Given the description of an element on the screen output the (x, y) to click on. 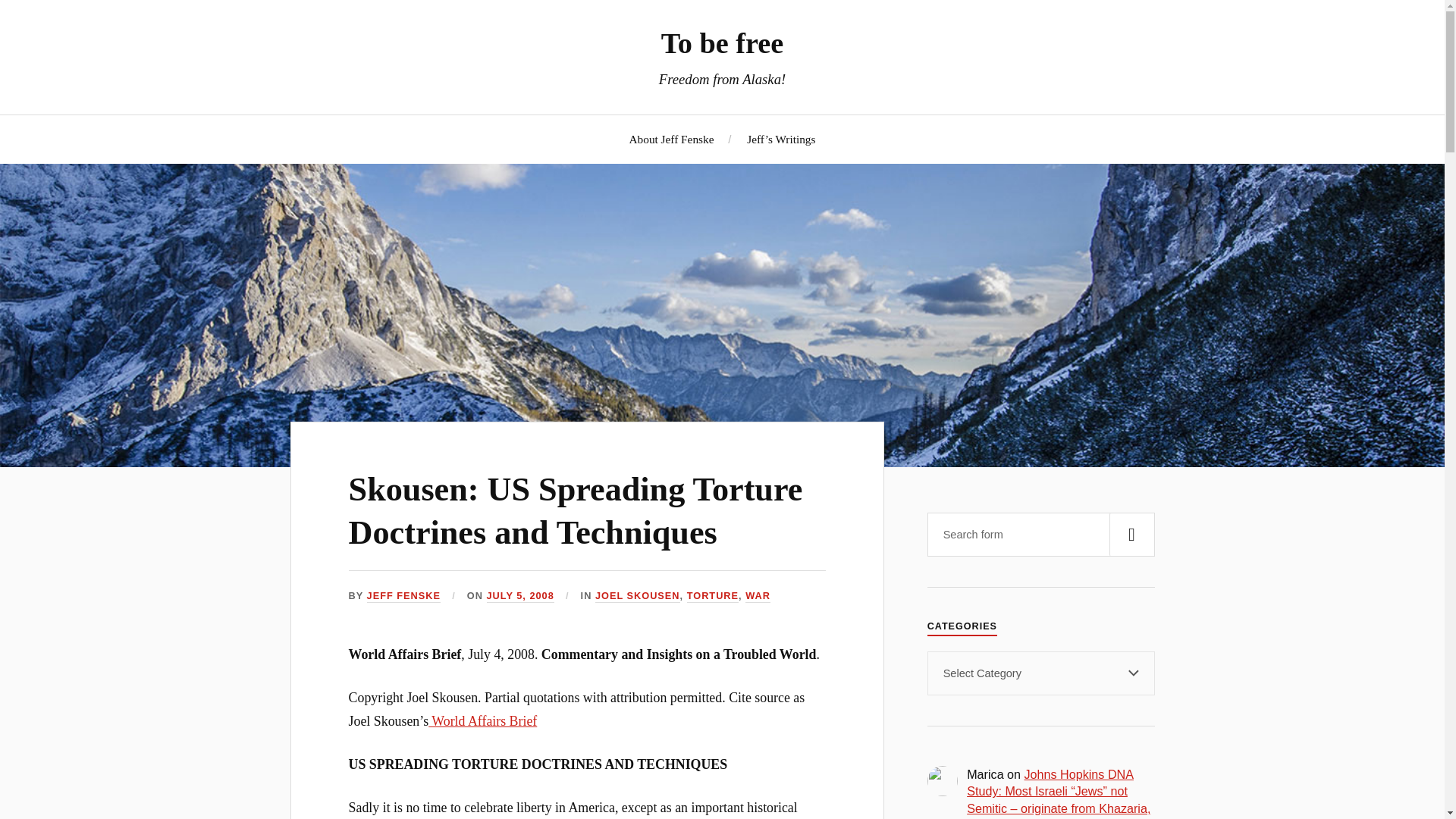
To be free (722, 42)
World Affairs Brief (482, 720)
Skousen: US Spreading Torture Doctrines and Techniques (576, 510)
About Jeff Fenske (671, 138)
JEFF FENSKE (403, 595)
WAR (757, 595)
Posts by Jeff Fenske (403, 595)
JOEL SKOUSEN (637, 595)
JULY 5, 2008 (520, 595)
TORTURE (712, 595)
